Given the description of an element on the screen output the (x, y) to click on. 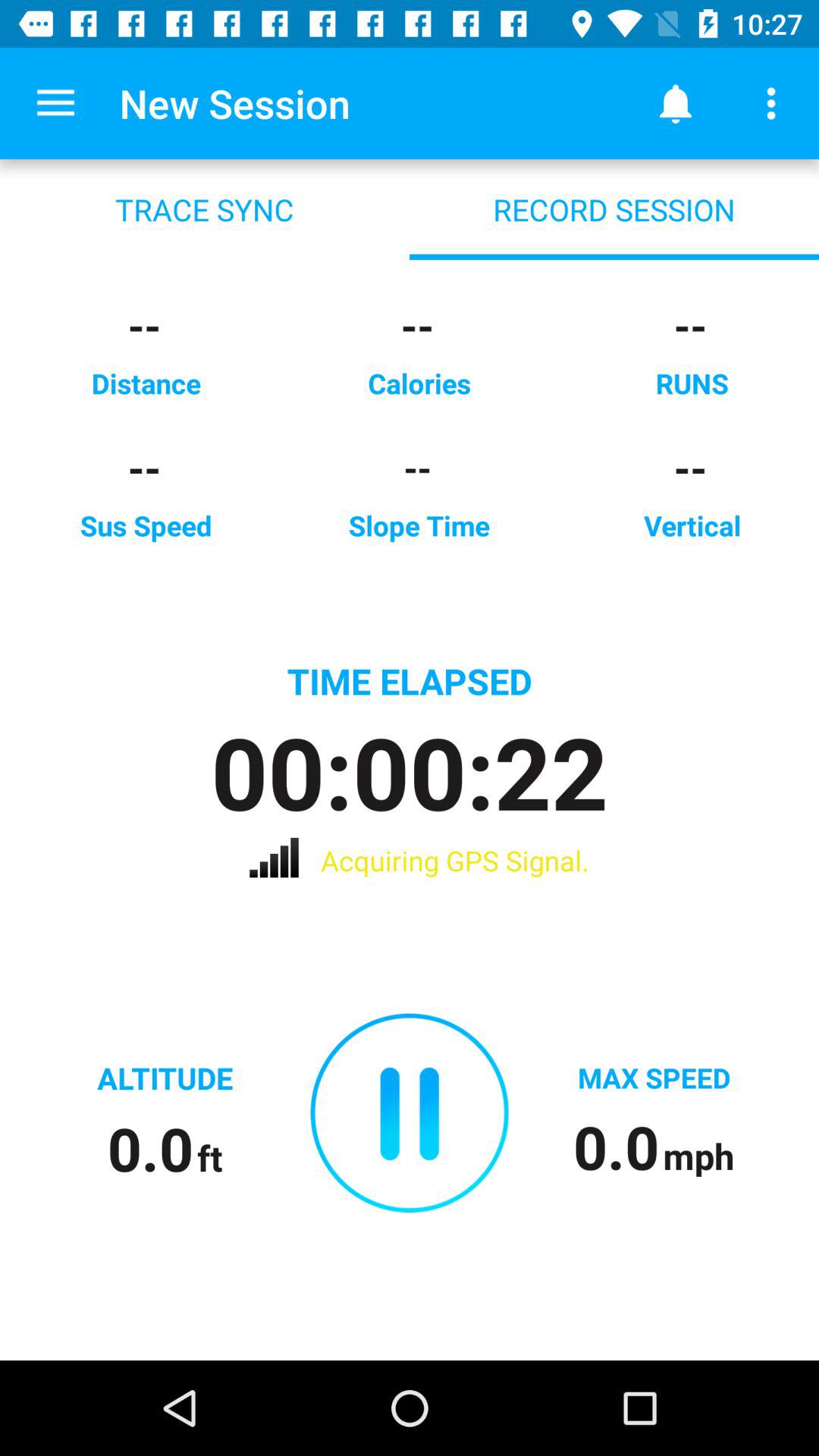
choose the icon above the trace sync icon (55, 103)
